Given the description of an element on the screen output the (x, y) to click on. 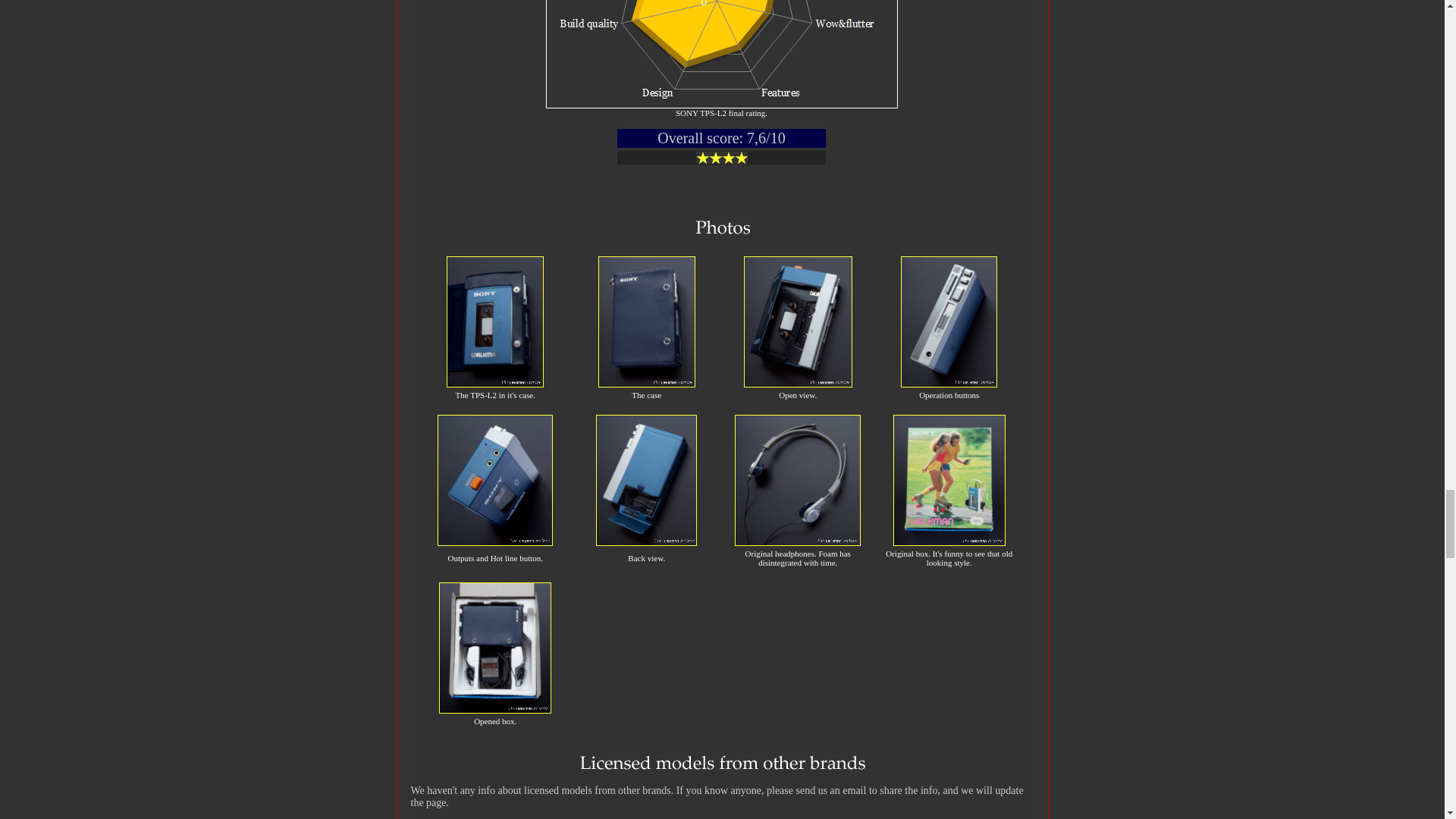
Operation buttons (949, 384)
The TPS-L2 in it's case. (494, 384)
Back view. (646, 542)
Outputs and Hot line button. (495, 542)
The case (646, 384)
Open view. (797, 384)
